Given the description of an element on the screen output the (x, y) to click on. 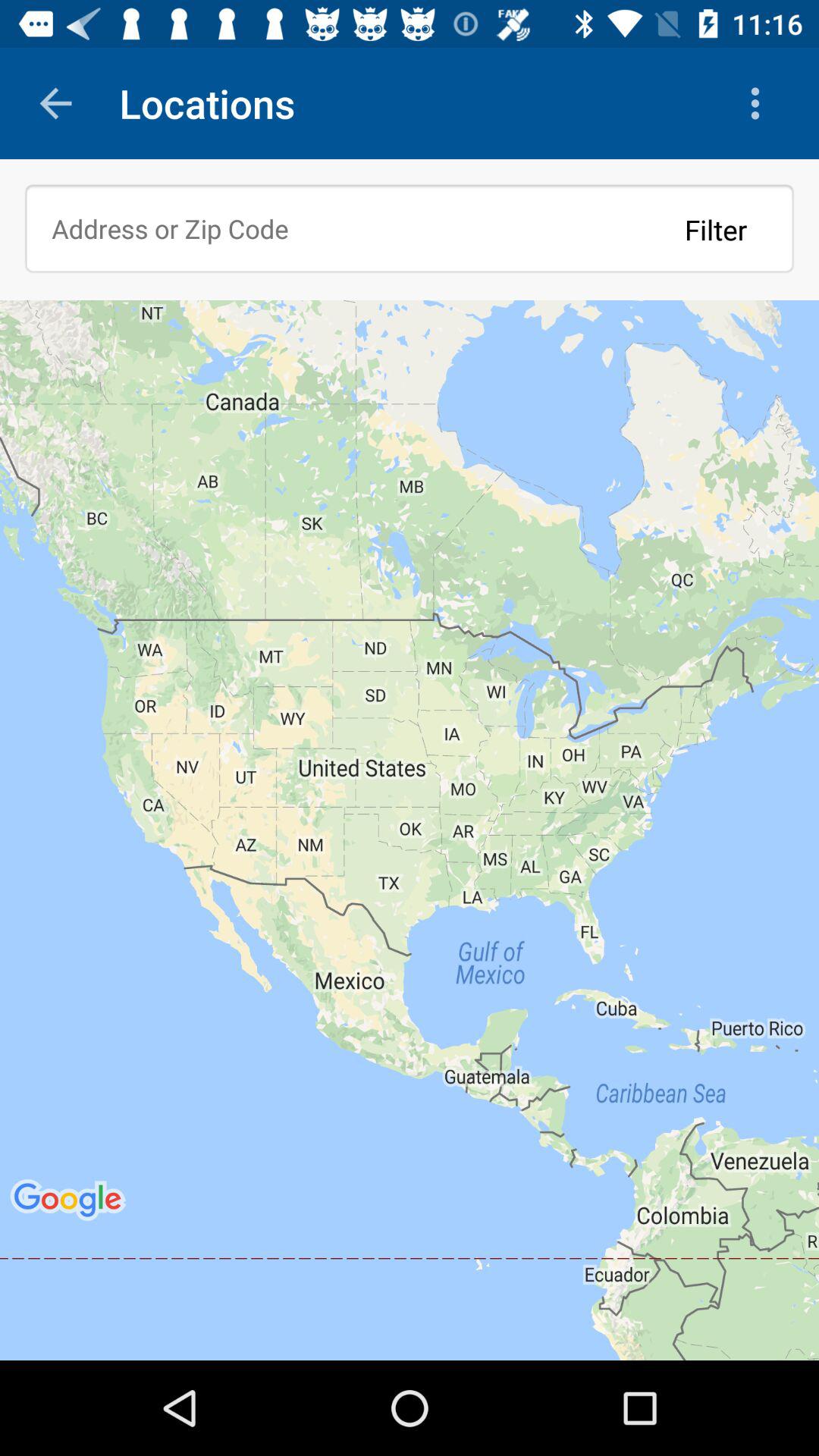
open app next to locations item (55, 103)
